Given the description of an element on the screen output the (x, y) to click on. 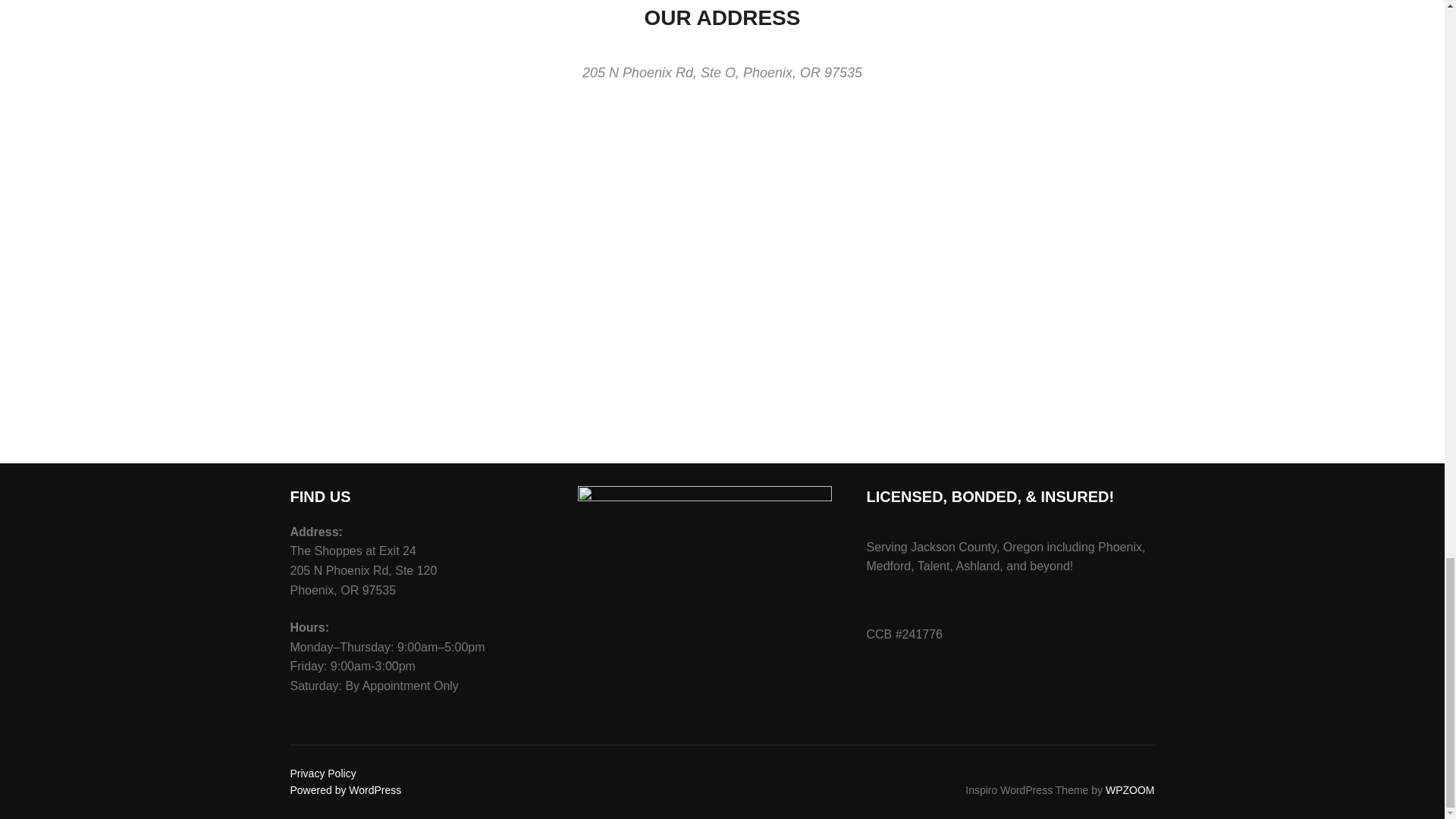
WPZOOM (1129, 789)
Privacy Policy (322, 773)
Powered by WordPress (345, 789)
